Given the description of an element on the screen output the (x, y) to click on. 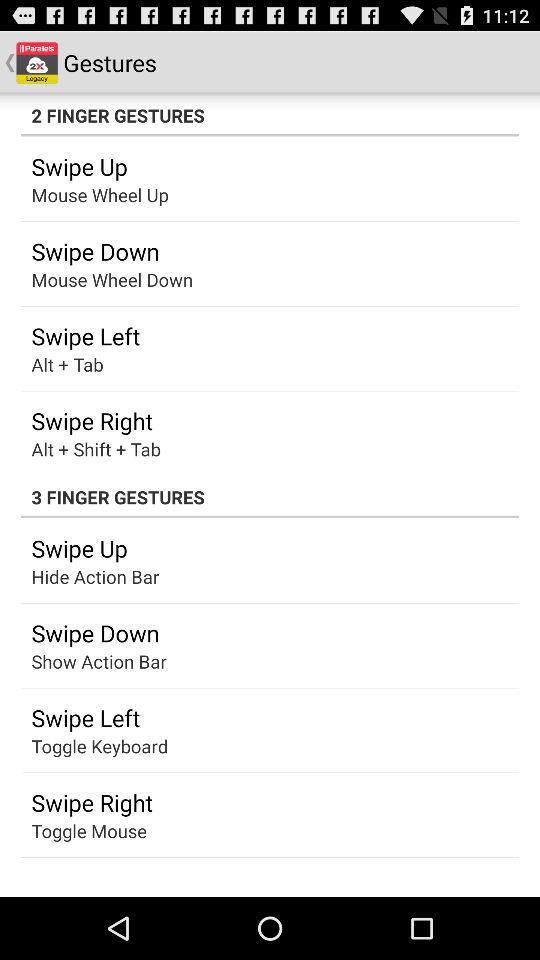
turn on the app below swipe up (84, 576)
